Given the description of an element on the screen output the (x, y) to click on. 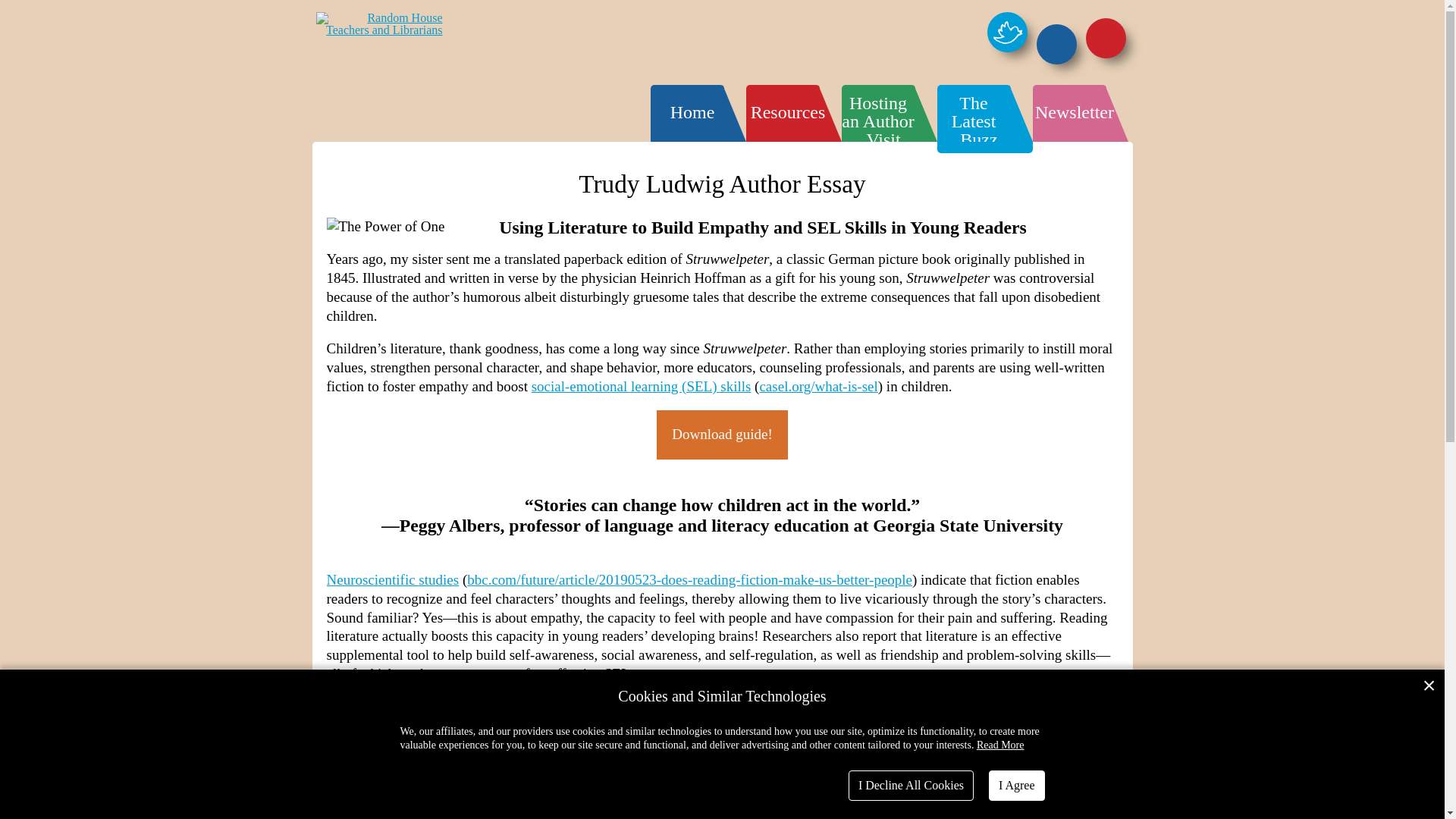
Resources (788, 112)
Download guide! (721, 434)
Newsletter (1074, 112)
Neuroscientific studies (392, 579)
Home (691, 112)
Hosting an Author Visit (877, 121)
